Given the description of an element on the screen output the (x, y) to click on. 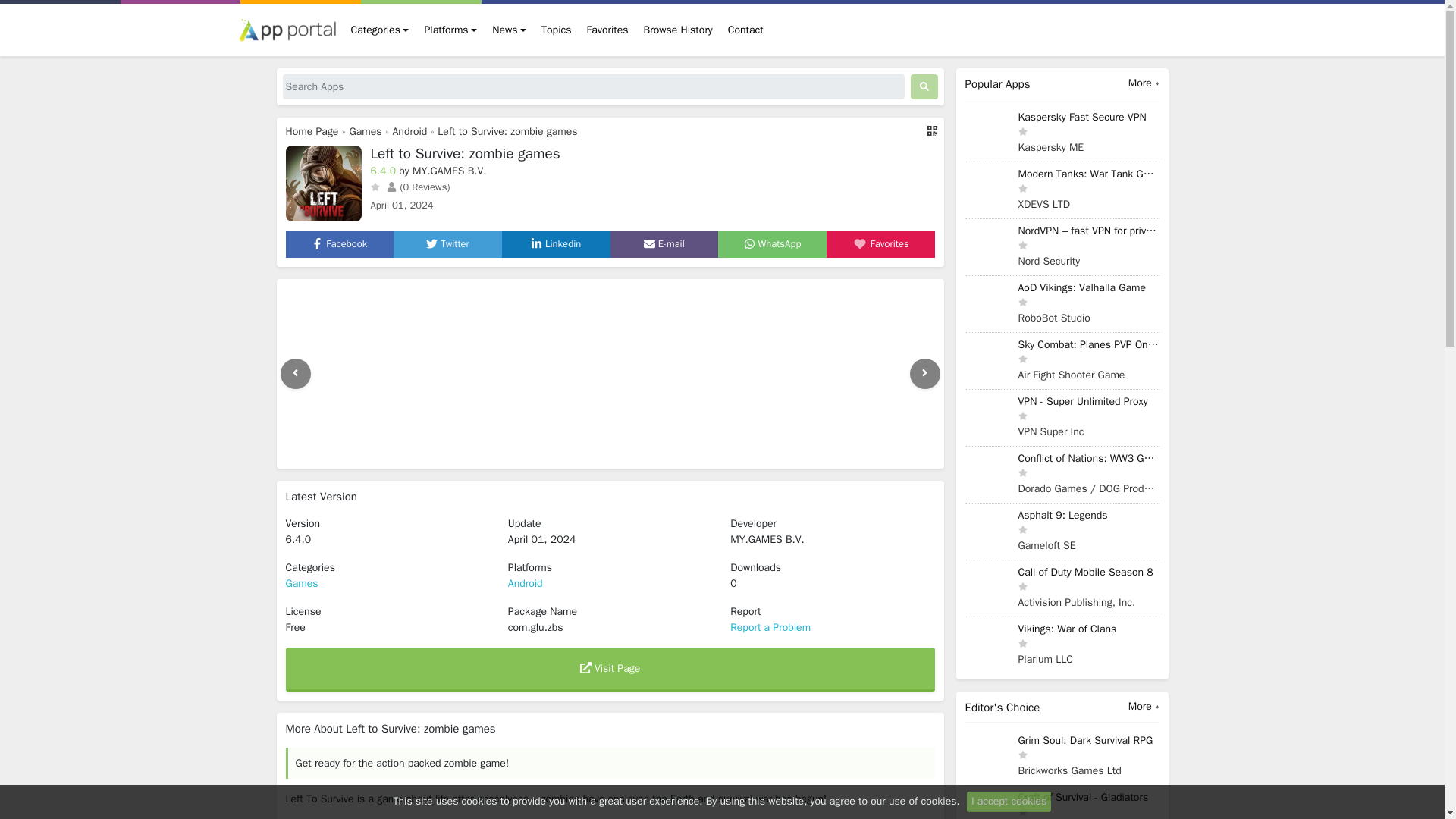
Topics (555, 29)
Games (365, 131)
Twitter (447, 243)
Contact (746, 29)
Linkedin (555, 243)
Home Page (311, 131)
Facebook (338, 243)
Browse History (678, 29)
Categories (378, 29)
News (509, 29)
